Given the description of an element on the screen output the (x, y) to click on. 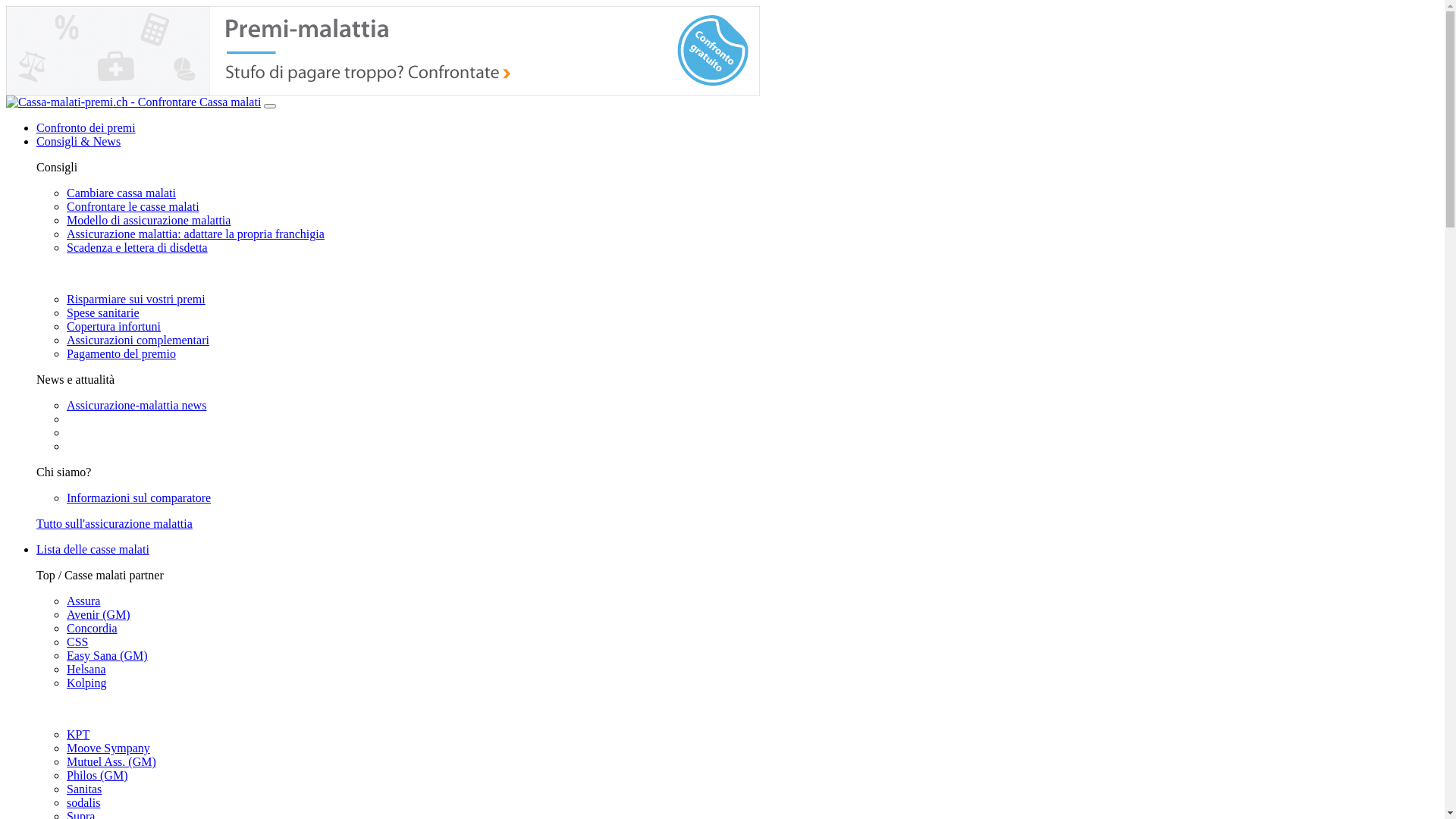
Confrontare le casse malati Element type: text (132, 206)
Avenir (GM) Element type: text (98, 614)
3rd party ad content Element type: hover (382, 50)
Cambiare cassa malati Element type: text (120, 192)
Consigli & News Element type: text (78, 140)
CSS Element type: text (76, 641)
Assicurazione malattia: adattare la propria franchigia Element type: text (195, 233)
Helsana Element type: text (86, 668)
Assicurazione-malattia news Element type: text (136, 404)
Mutuel Ass. (GM) Element type: text (111, 761)
Modello di assicurazione malattia Element type: text (148, 219)
Informazioni sul comparatore Element type: text (138, 497)
Spese sanitarie Element type: text (102, 312)
Moove Sympany Element type: text (108, 747)
Pagamento del premio Element type: text (120, 353)
Assura Element type: text (83, 600)
Assicurazioni complementari Element type: text (137, 339)
Concordia Element type: text (91, 627)
Philos (GM) Element type: text (96, 774)
KPT Element type: text (77, 734)
sodalis Element type: text (83, 802)
Lista delle casse malati Element type: text (92, 548)
Tutto sull'assicurazione malattia Element type: text (114, 523)
Copertura infortuni Element type: text (113, 326)
Kolping Element type: text (86, 682)
Confronto dei premi Element type: text (85, 127)
Easy Sana (GM) Element type: text (106, 655)
Sanitas Element type: text (83, 788)
Risparmiare sui vostri premi Element type: text (135, 298)
Scadenza e lettera di disdetta Element type: text (136, 247)
